Given the description of an element on the screen output the (x, y) to click on. 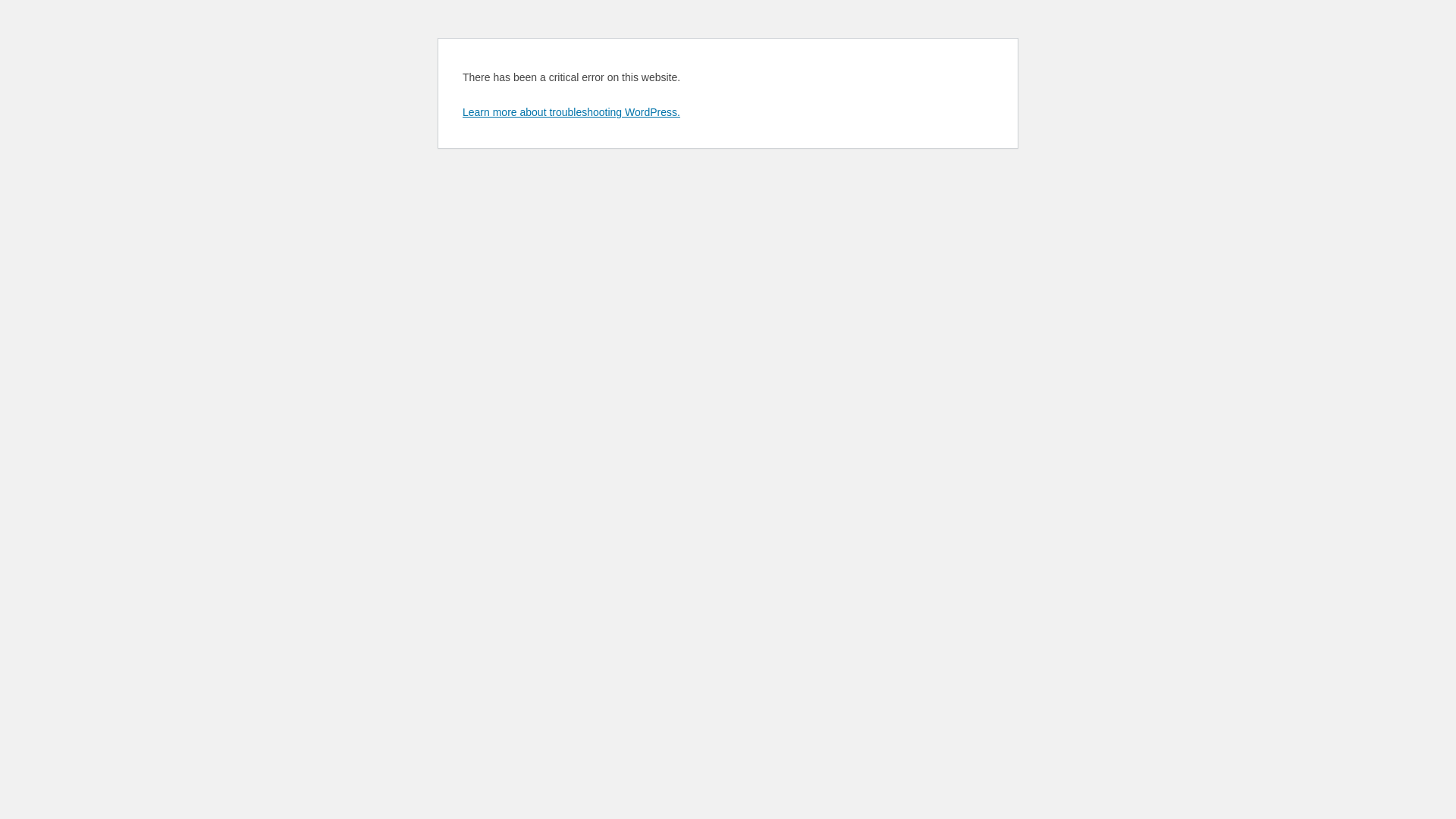
Learn more about troubleshooting WordPress. Element type: text (571, 112)
